Given the description of an element on the screen output the (x, y) to click on. 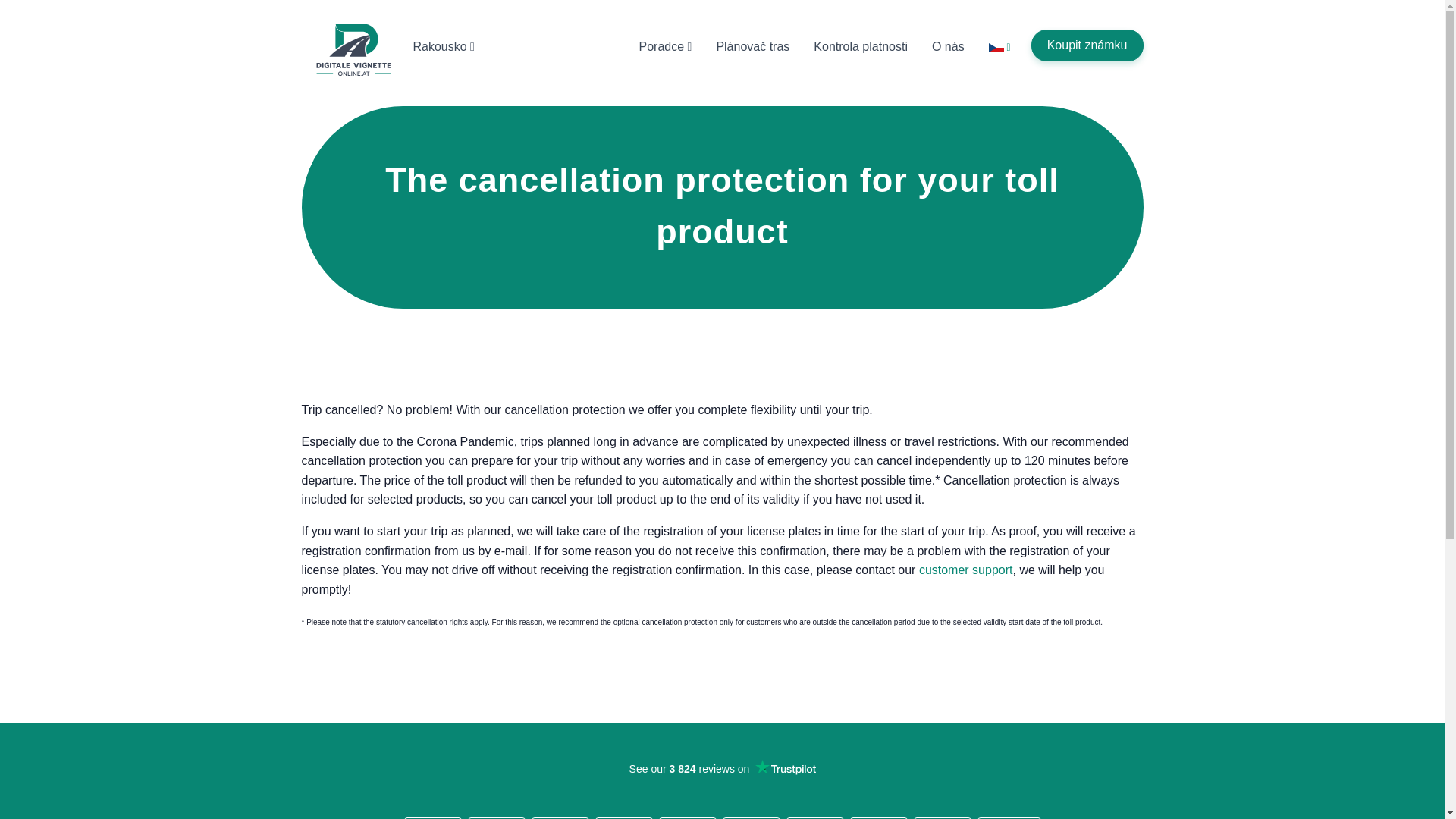
Customer reviews powered by Trustpilot (721, 789)
